Given the description of an element on the screen output the (x, y) to click on. 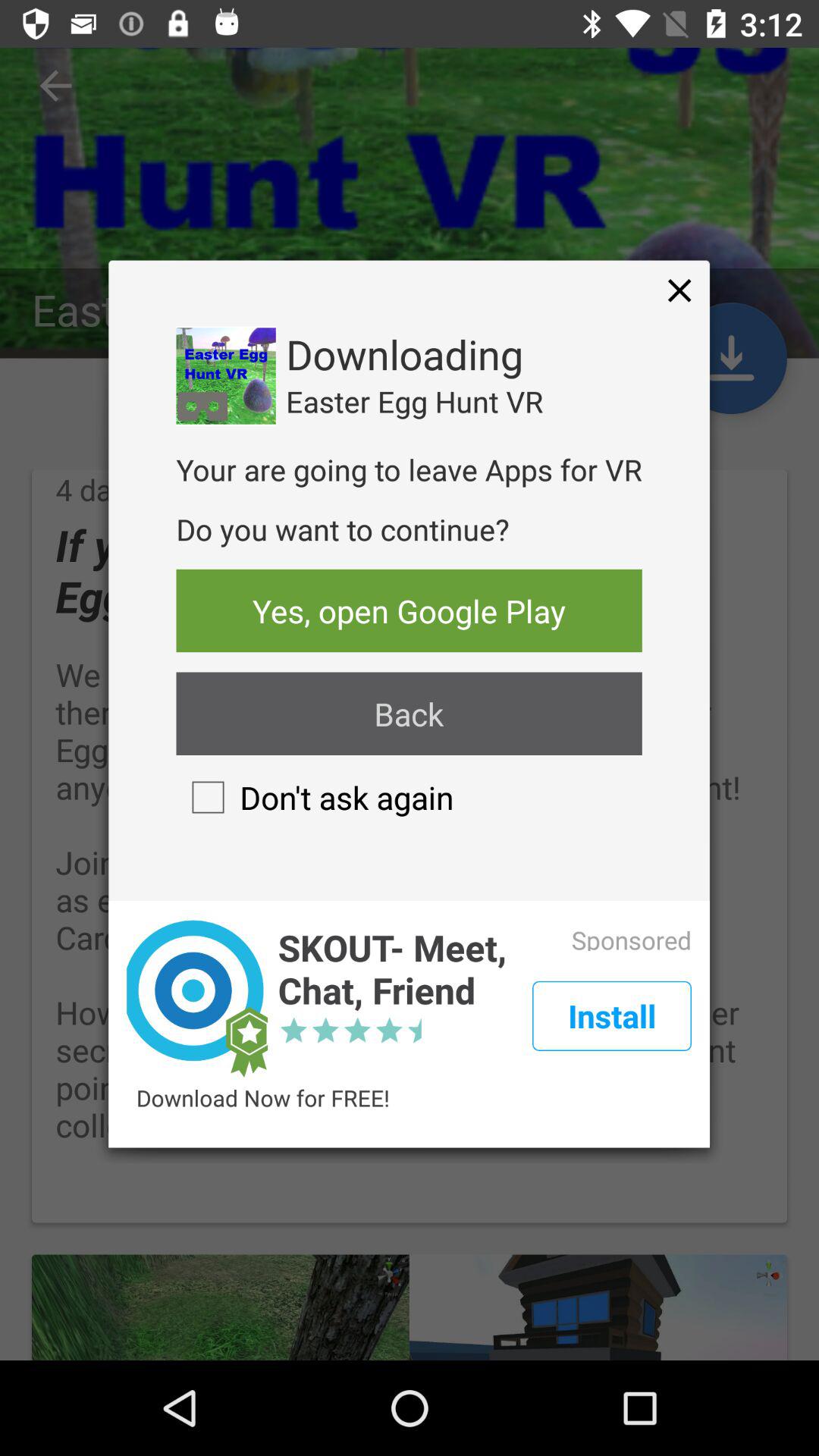
turn on icon below back icon (314, 797)
